Given the description of an element on the screen output the (x, y) to click on. 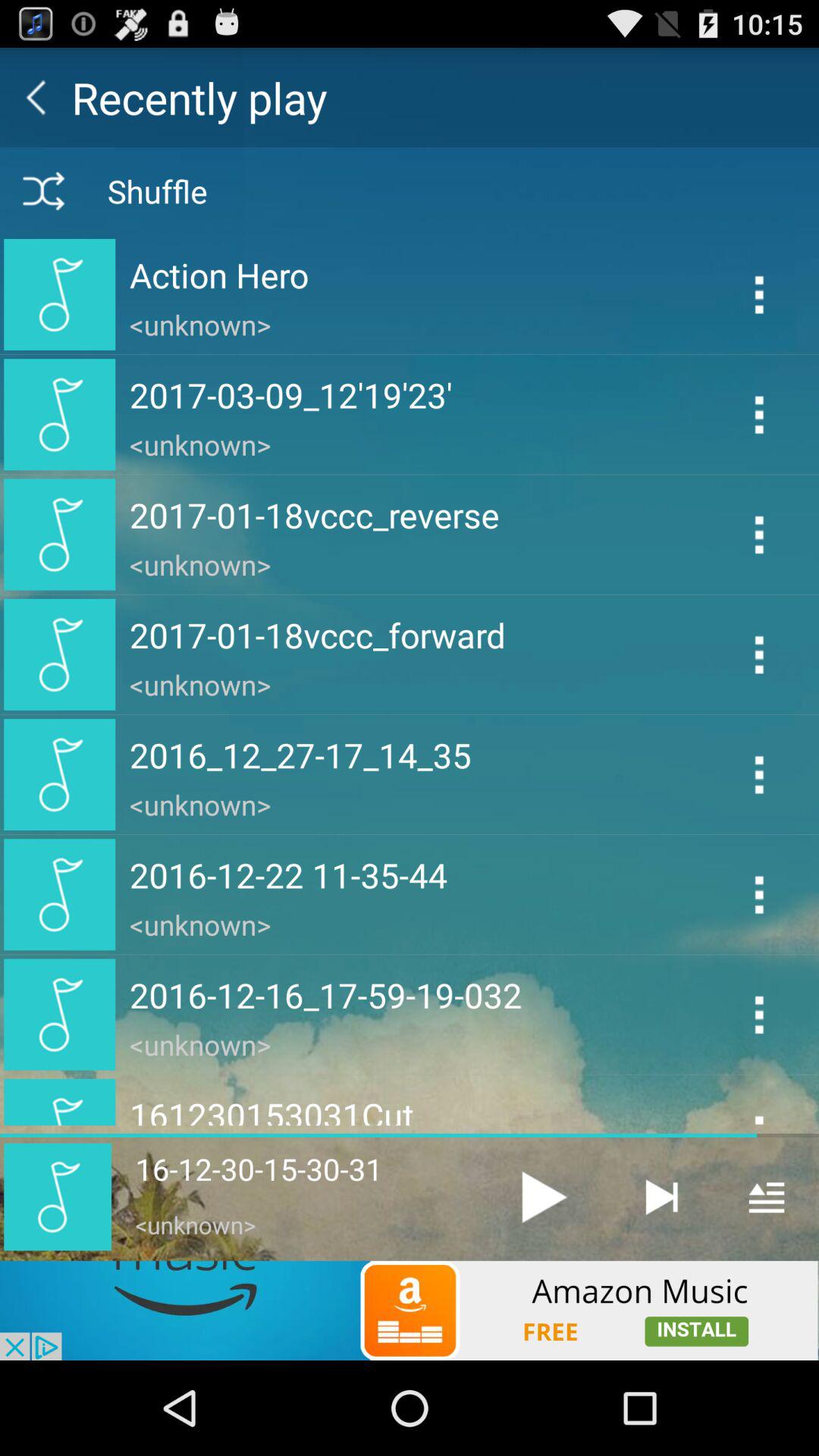
go to end of track (660, 1197)
